Given the description of an element on the screen output the (x, y) to click on. 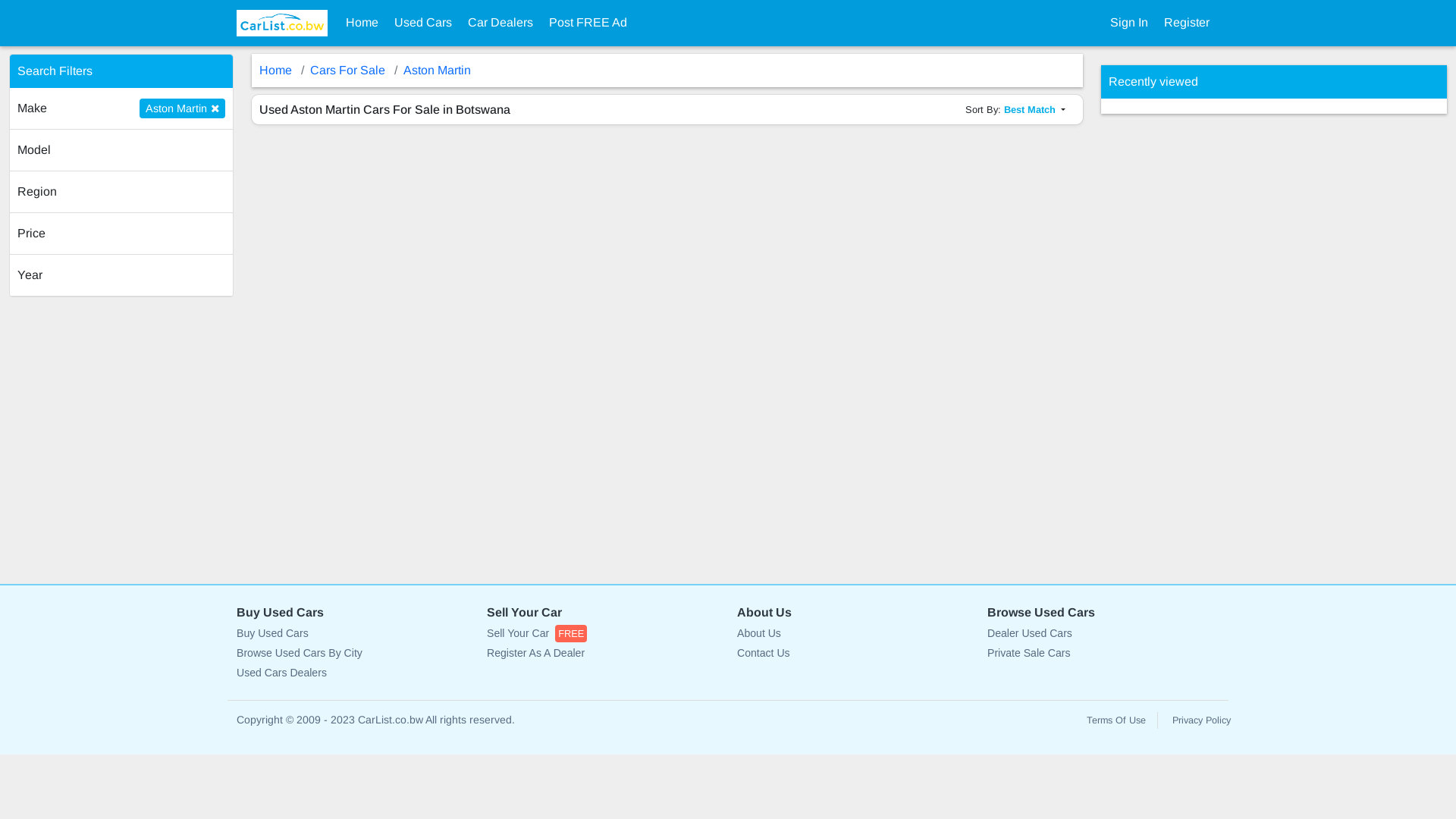
Home Element type: text (361, 22)
Private Sale Cars Element type: text (1103, 653)
Used Cars Dealers Element type: text (352, 672)
Sell Your CarFREE Element type: text (602, 633)
Dealer Used Cars Element type: text (1103, 633)
Sort By: Best Match Element type: text (1015, 109)
Terms Of Use Element type: text (1116, 720)
Advertisement Element type: hover (1214, 340)
Browse Used Cars By City Element type: text (352, 653)
Sign In Element type: text (1129, 22)
Aston Martin Element type: text (436, 69)
Buy Used Cars Element type: text (352, 633)
Post FREE Ad Element type: text (587, 22)
Contact Us Element type: text (853, 653)
Used Cars Element type: text (423, 22)
Register Element type: text (1186, 22)
Car Dealers Element type: text (500, 22)
Cars For Sale Element type: text (347, 69)
Home Element type: text (275, 69)
Privacy Policy Element type: text (1201, 720)
Register As A Dealer Element type: text (602, 653)
About Us Element type: text (853, 633)
